Given the description of an element on the screen output the (x, y) to click on. 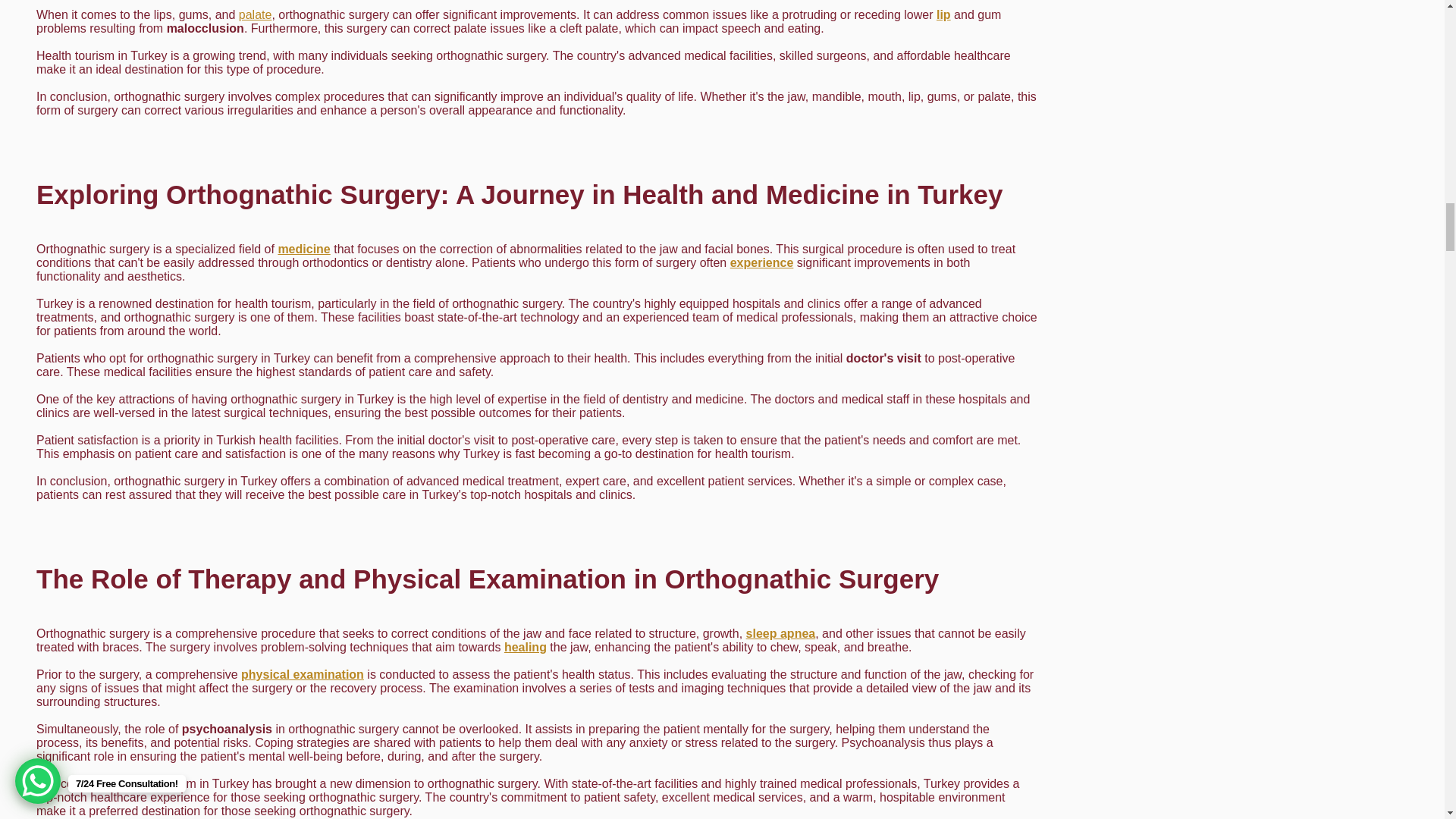
palate (255, 14)
